Given the description of an element on the screen output the (x, y) to click on. 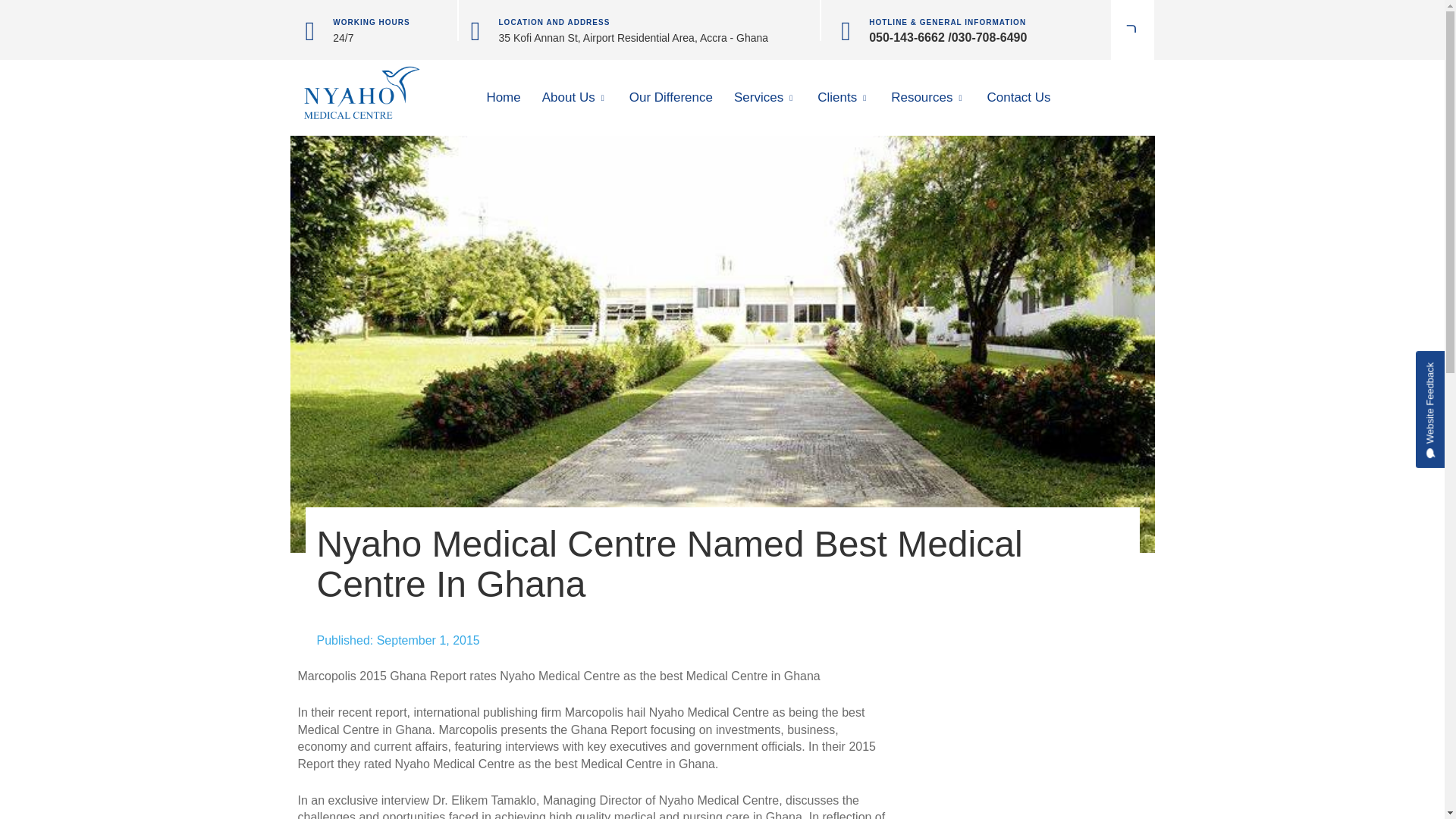
About Us (574, 97)
Services (764, 97)
Home (503, 97)
Our Difference (670, 97)
Clients (843, 97)
